Given the description of an element on the screen output the (x, y) to click on. 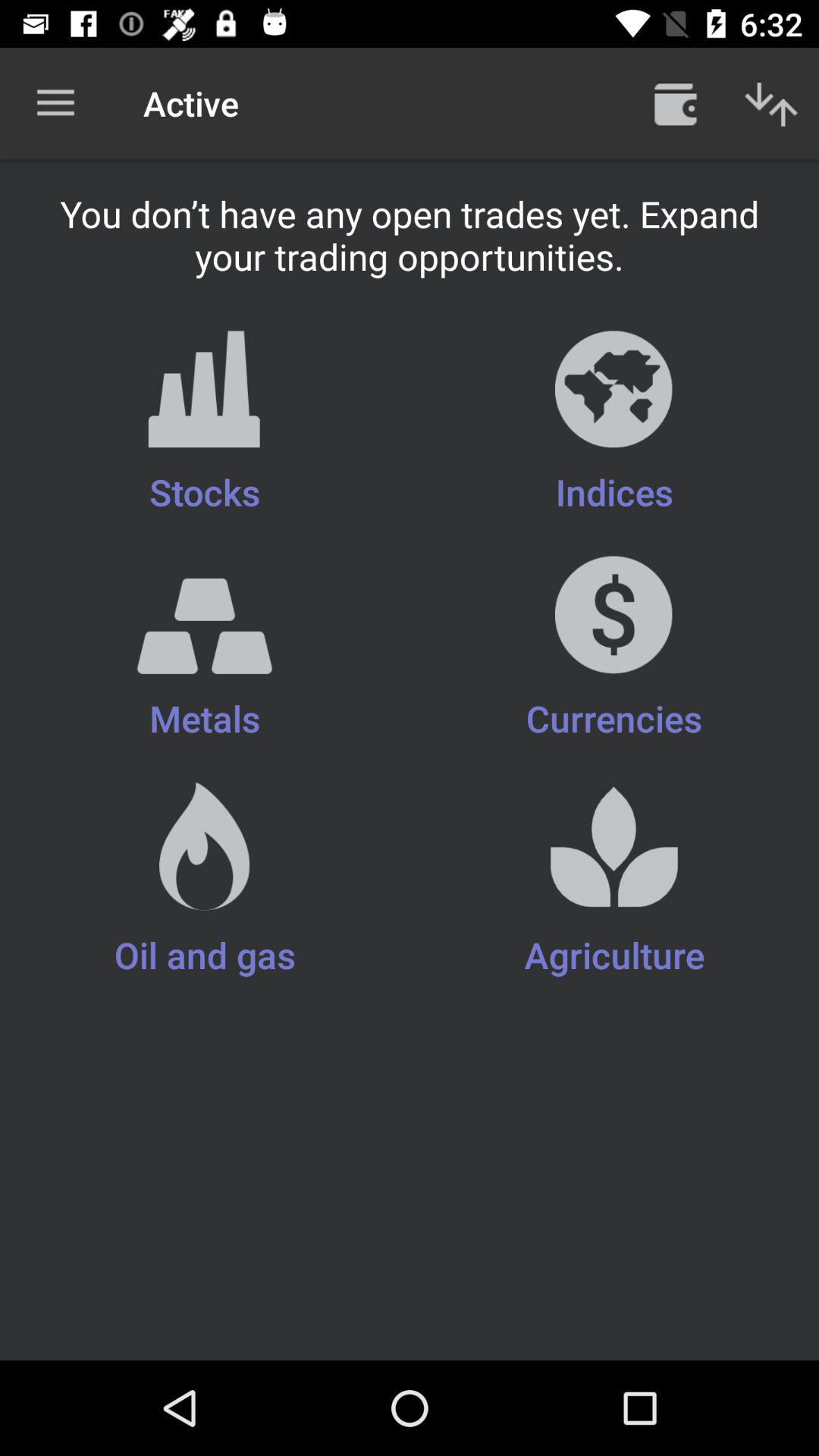
launch the icon to the left of currencies item (204, 660)
